Given the description of an element on the screen output the (x, y) to click on. 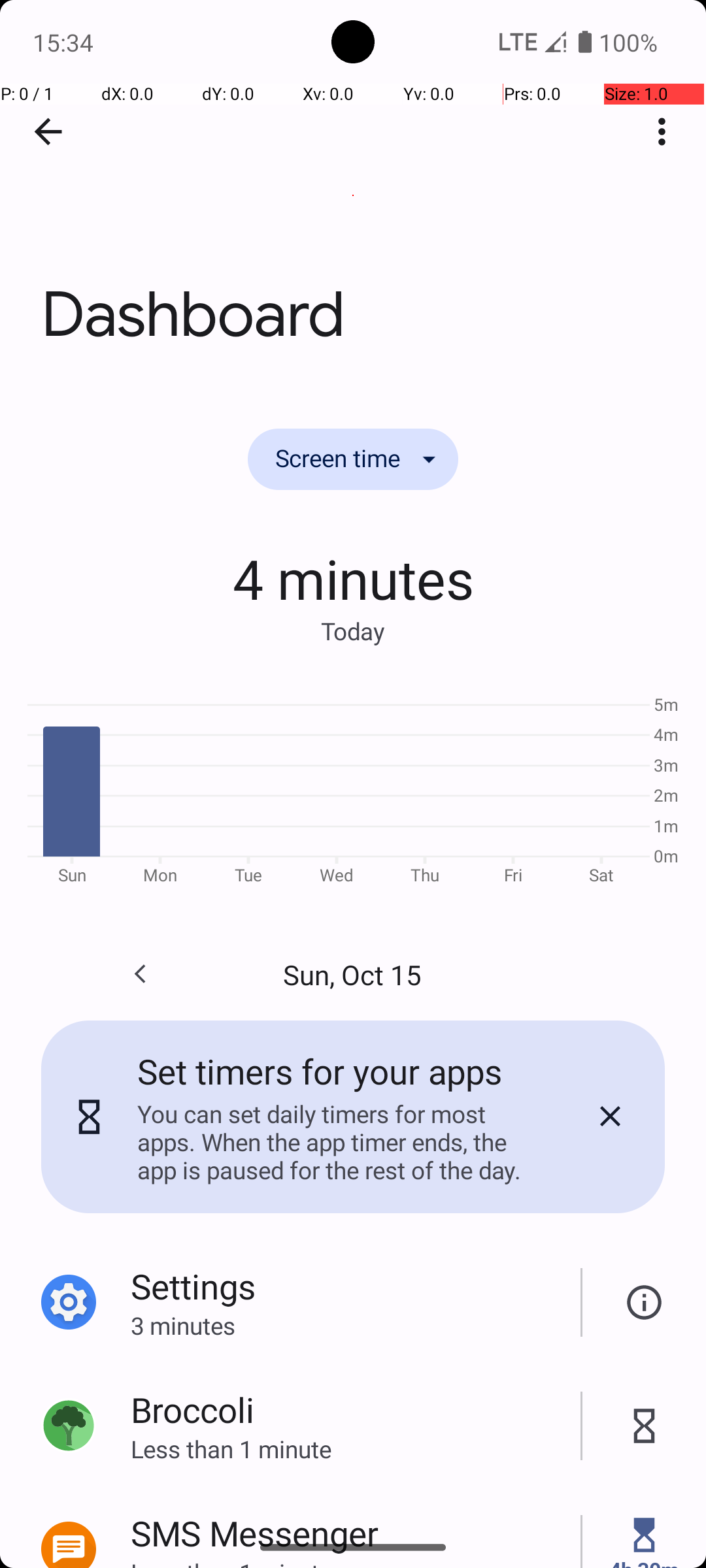
Dashboard Element type: android.widget.FrameLayout (353, 195)
4 minutes Element type: android.widget.TextView (353, 577)
Go to the previous day Element type: android.widget.Button (139, 973)
Set timers for your apps Element type: android.widget.TextView (319, 1070)
You can set daily timers for most apps. When the app timer ends, the app is paused for the rest of the day. Element type: android.widget.TextView (339, 1141)
Dismiss card Element type: android.widget.Button (609, 1116)
3 minutes Element type: android.widget.TextView (355, 1325)
Can't set timer Element type: android.widget.FrameLayout (644, 1302)
Less than 1 minute Element type: android.widget.TextView (355, 1448)
No timer set for Broccoli Element type: android.widget.FrameLayout (644, 1425)
4 hr, 30 min set for SMS Messenger Element type: android.widget.FrameLayout (644, 1534)
Bar Chart. Showing Phone usage data with 7 data points. Element type: android.view.ViewGroup (353, 787)
4h 30m Element type: android.widget.TextView (643, 1561)
